Given the description of an element on the screen output the (x, y) to click on. 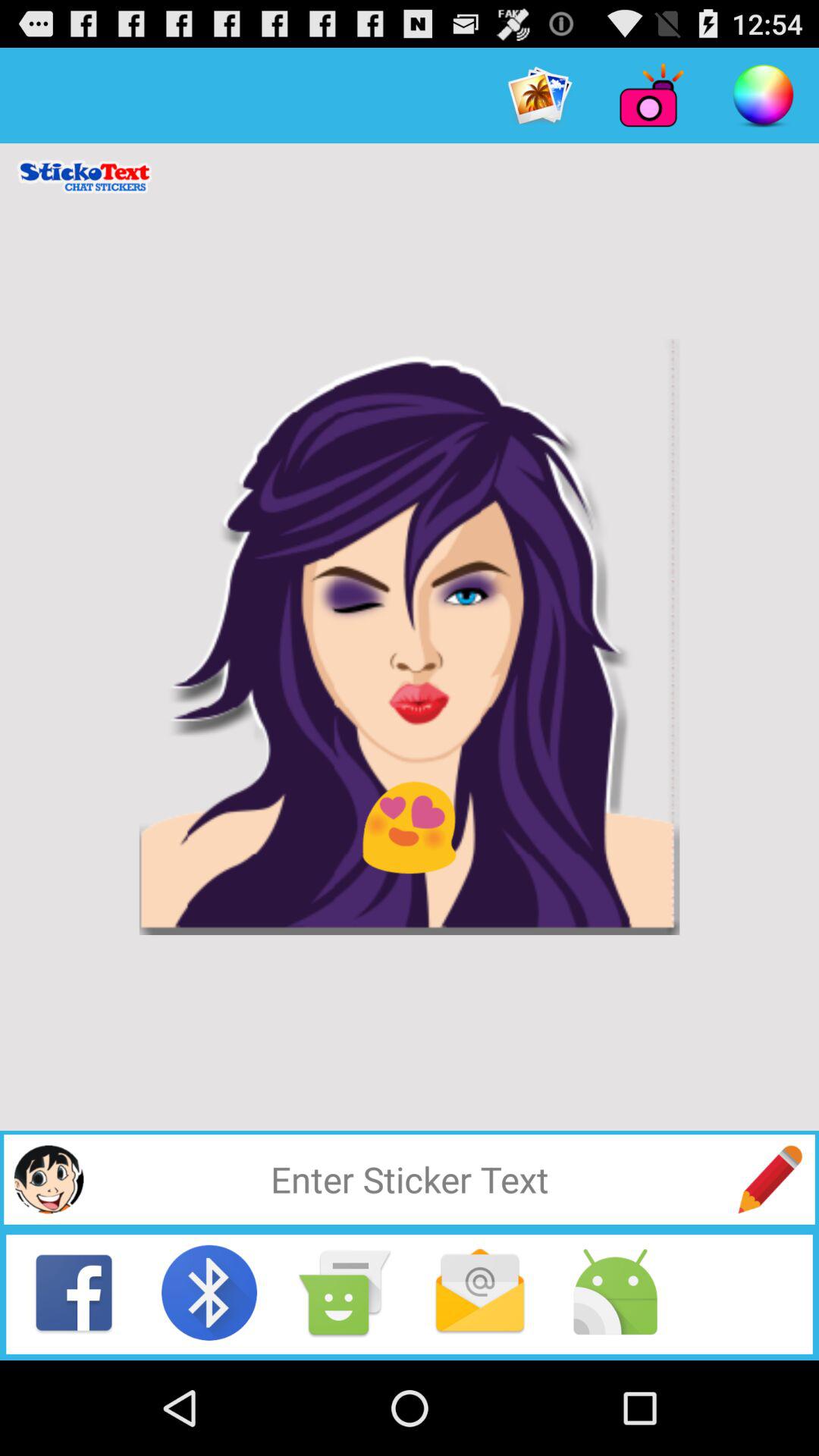
share to facebook (73, 1292)
